Given the description of an element on the screen output the (x, y) to click on. 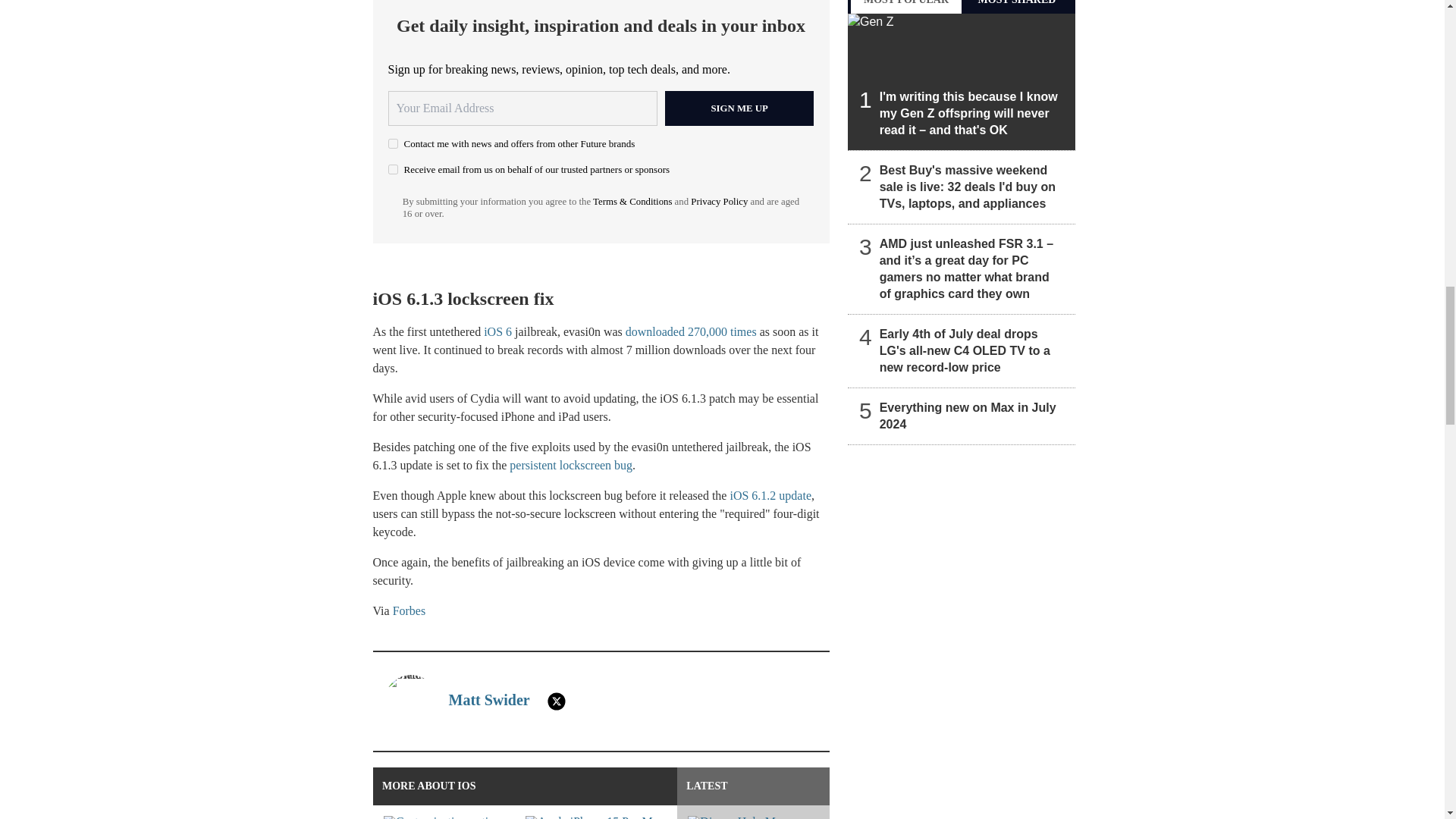
on (392, 169)
Sign me up (739, 108)
on (392, 143)
